Given the description of an element on the screen output the (x, y) to click on. 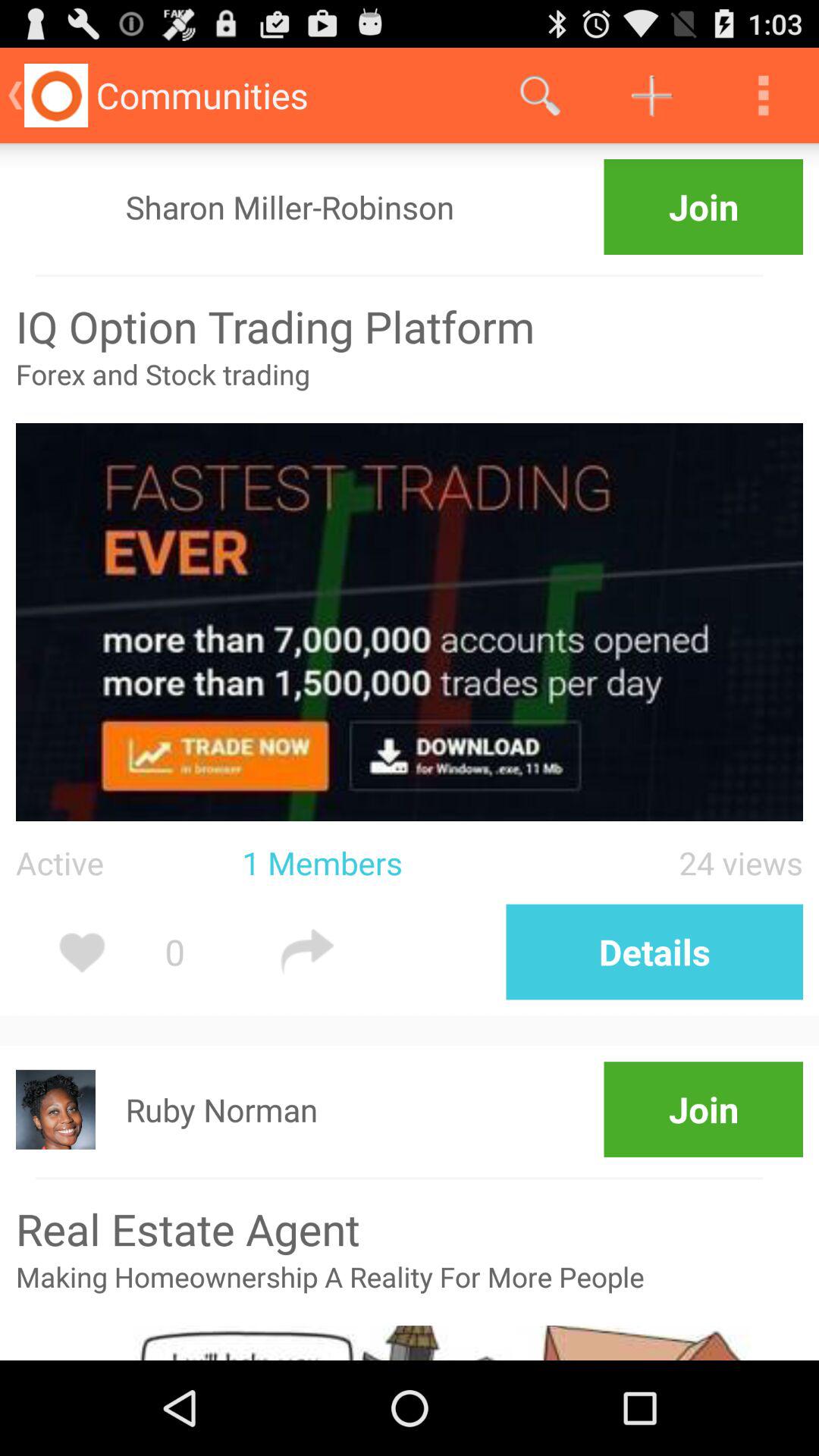
launch icon to the left of join icon (289, 206)
